Given the description of an element on the screen output the (x, y) to click on. 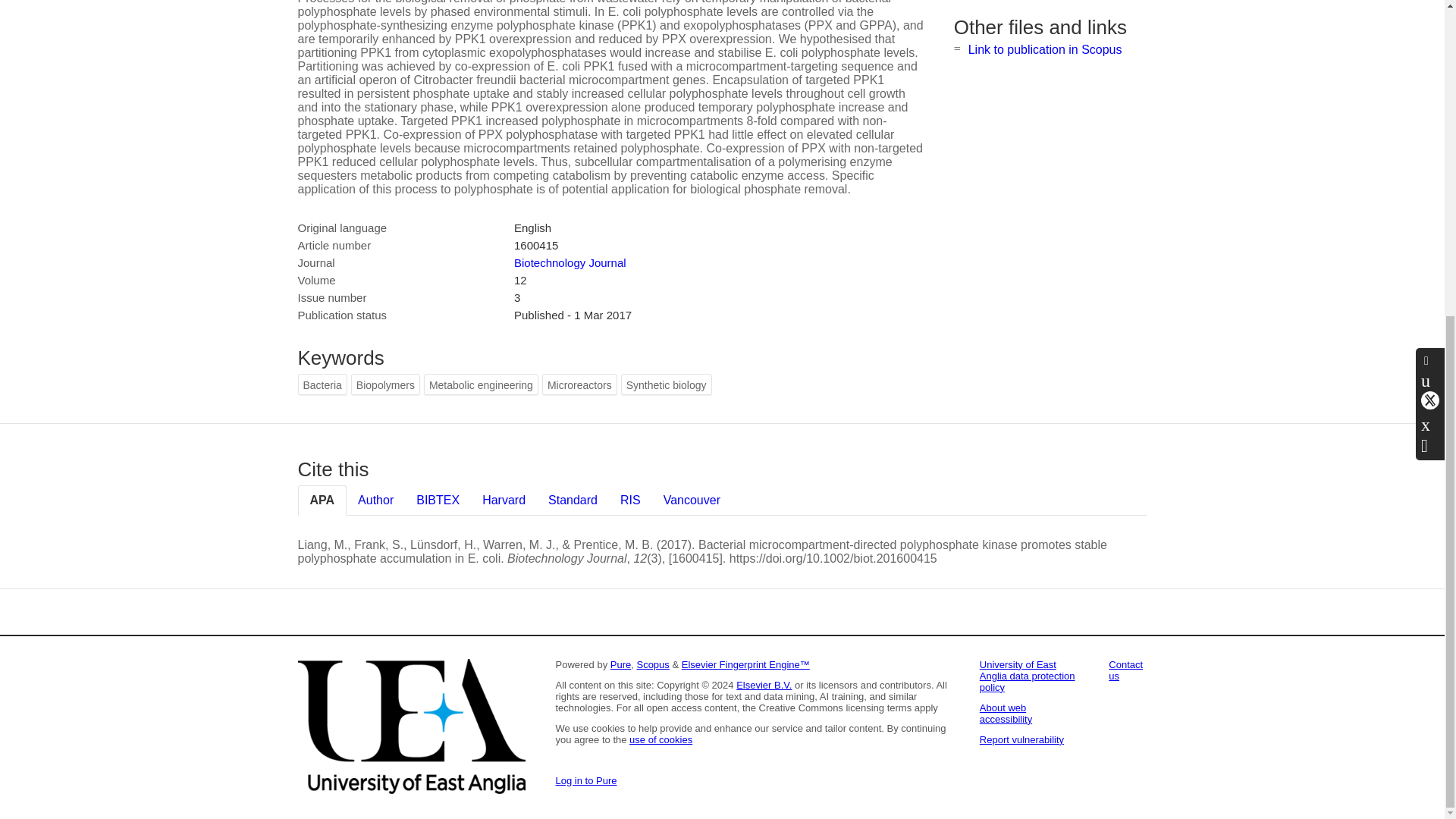
Link to publication in Scopus (1045, 49)
Elsevier B.V. (764, 685)
Biotechnology Journal (569, 262)
Log in to Pure (584, 780)
Report vulnerability (1021, 739)
Pure (620, 664)
Contact us (1125, 670)
About web accessibility (1005, 712)
University of East Anglia data protection policy (1027, 675)
use of cookies (660, 739)
Scopus (652, 664)
